Given the description of an element on the screen output the (x, y) to click on. 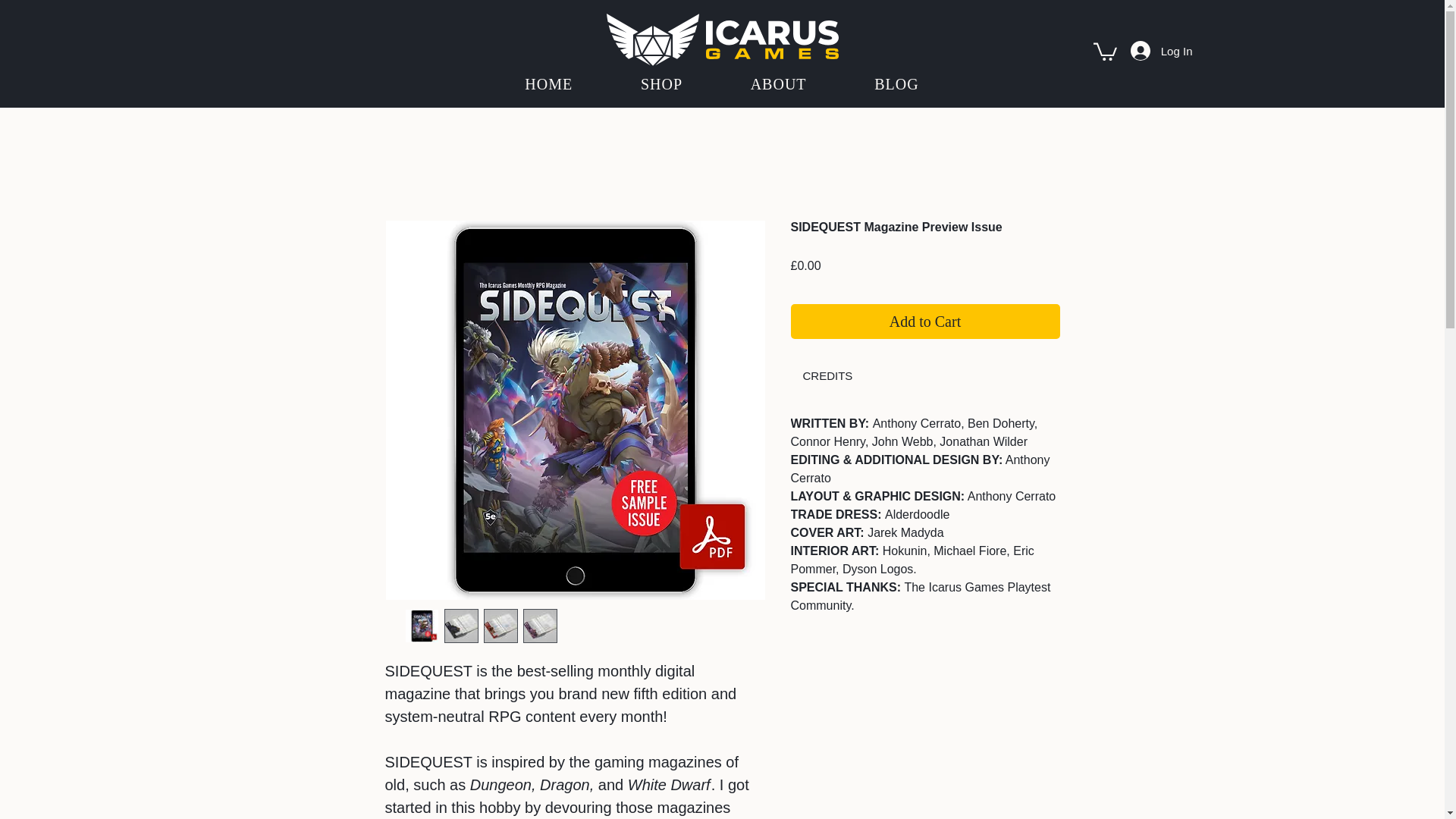
HOME (549, 84)
Log In (1161, 50)
Add to Cart (924, 321)
ABOUT (778, 84)
Use right and left arrows to navigate between tabs (827, 376)
SHOP (661, 84)
BLOG (896, 84)
